Given the description of an element on the screen output the (x, y) to click on. 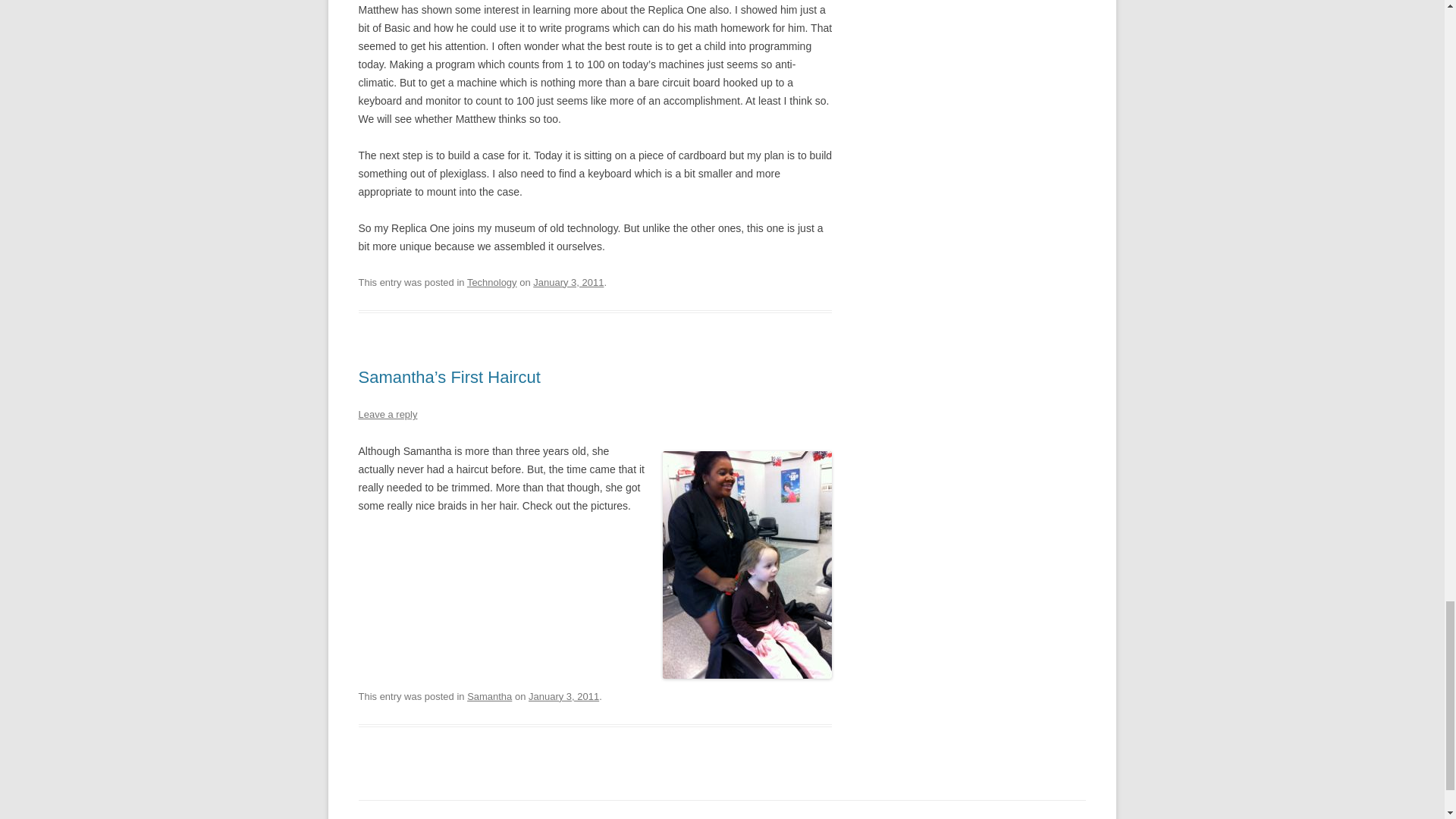
8:38 pm (568, 282)
January 3, 2011 (568, 282)
Leave a reply (387, 414)
January 3, 2011 (563, 696)
Technology (491, 282)
Samantha (489, 696)
7:44 pm (563, 696)
